Given the description of an element on the screen output the (x, y) to click on. 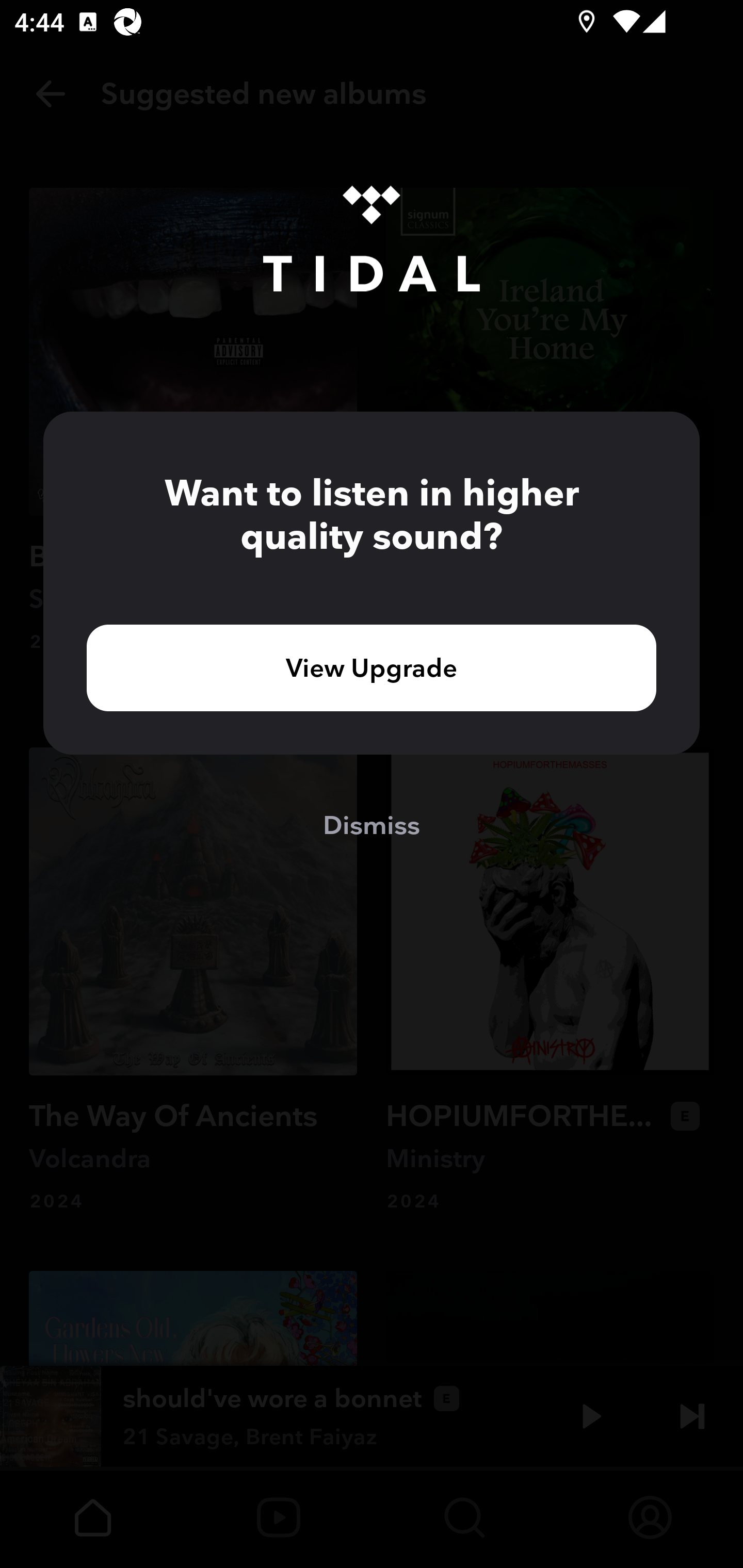
View Upgrade (371, 667)
Dismiss (371, 824)
